Given the description of an element on the screen output the (x, y) to click on. 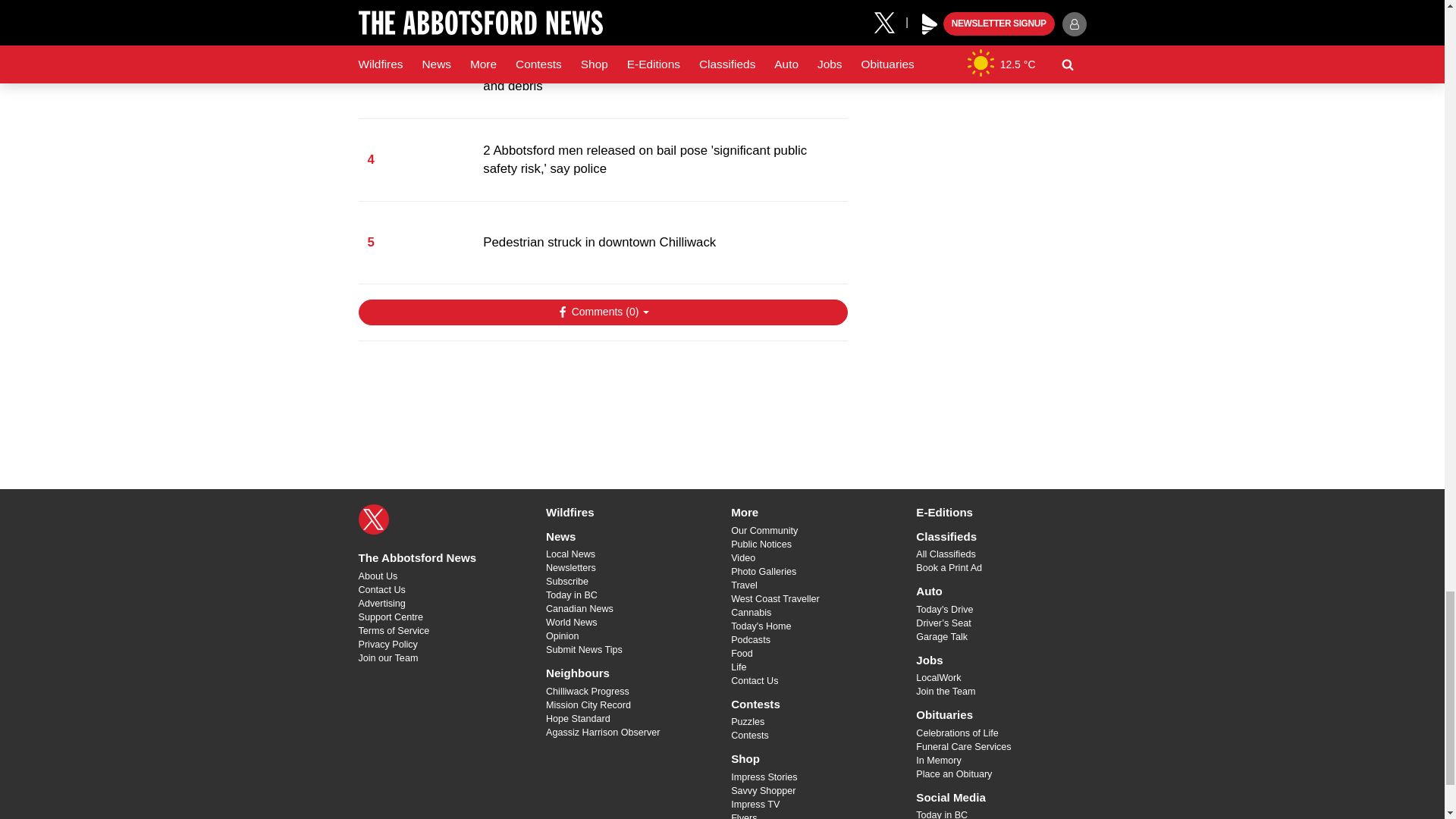
Show Comments (602, 312)
X (373, 519)
